Given the description of an element on the screen output the (x, y) to click on. 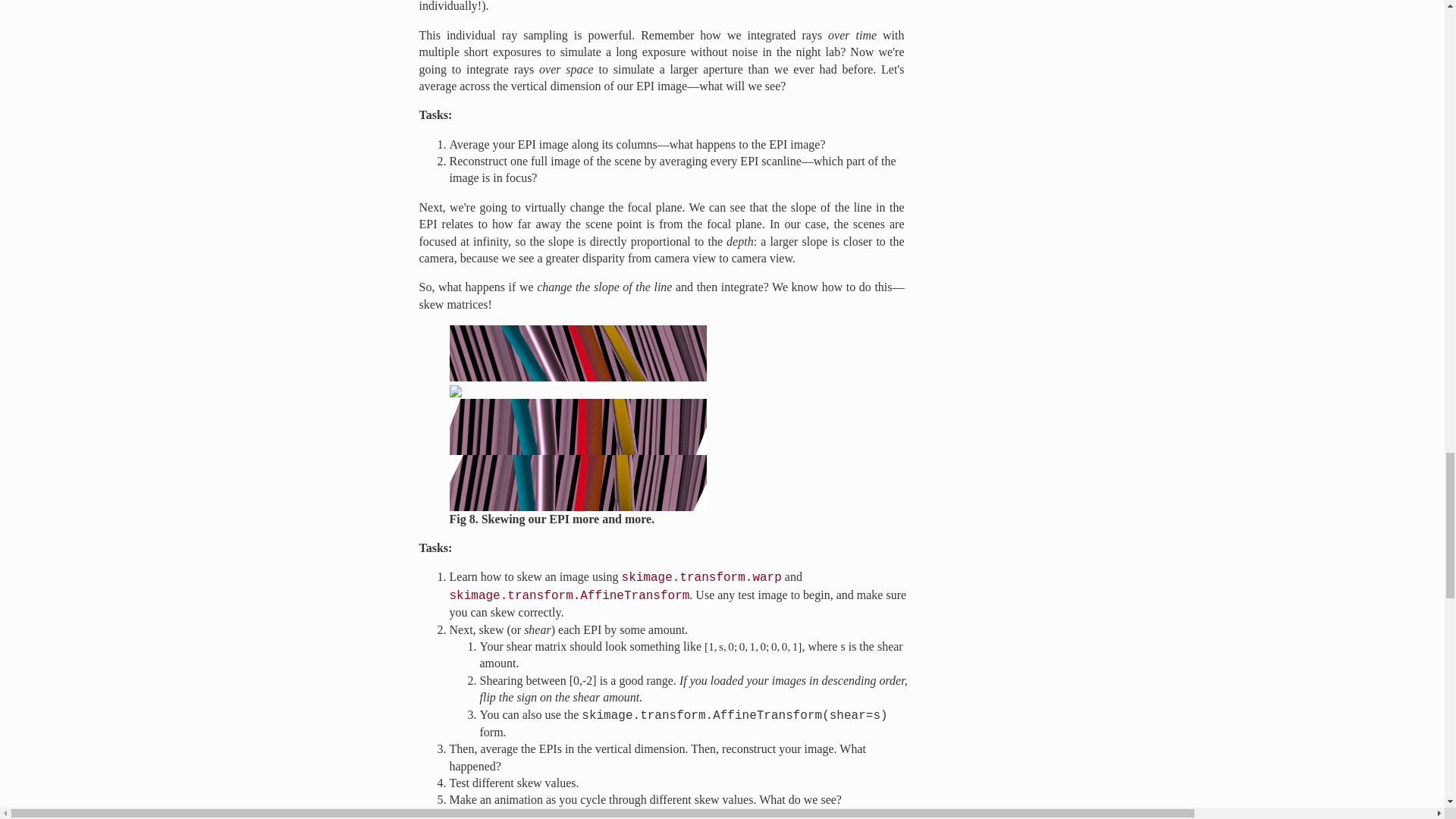
skimage.transform.AffineTransform (568, 595)
skimage.transform.warp (701, 577)
